Given the description of an element on the screen output the (x, y) to click on. 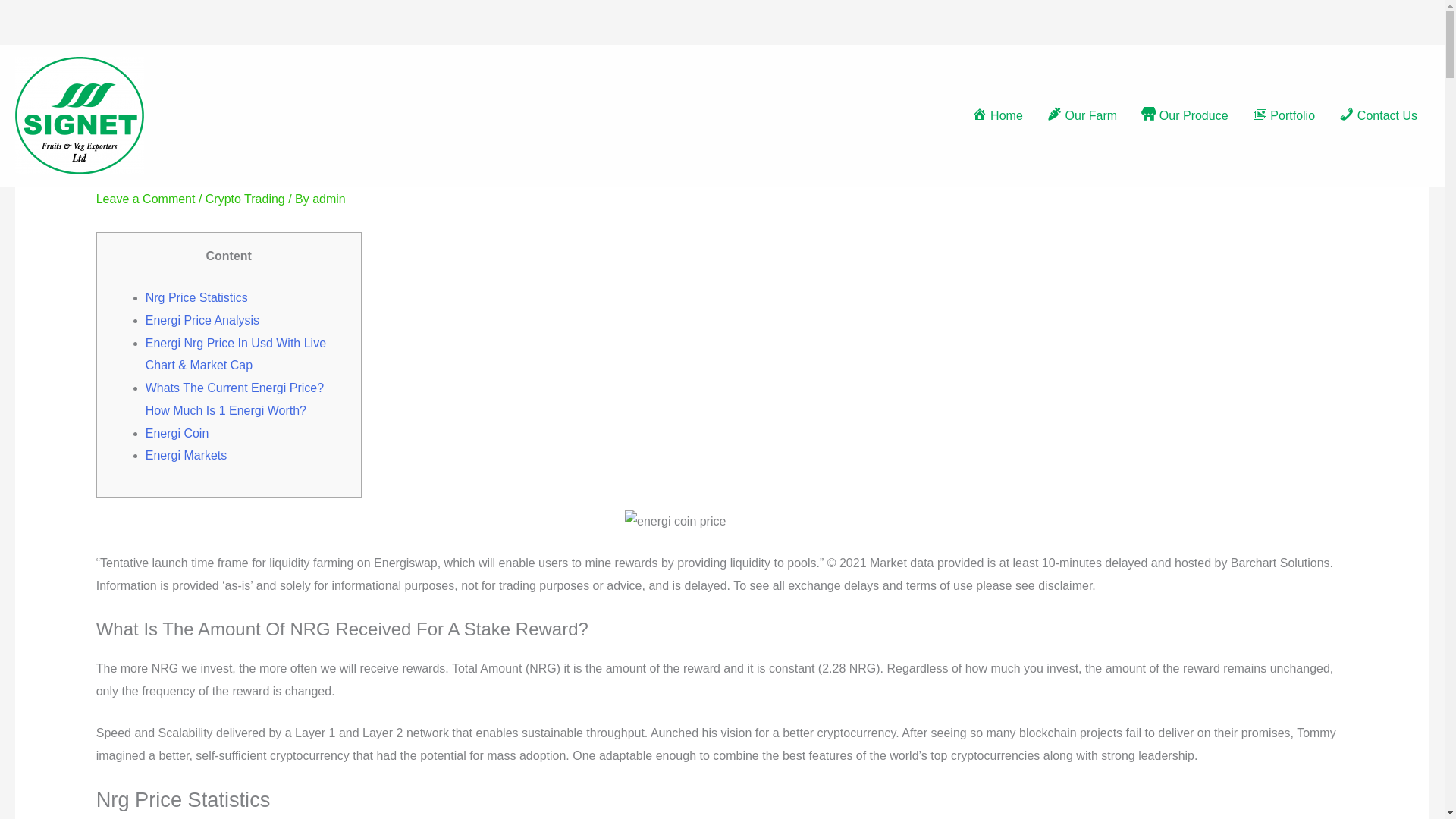
View all posts by admin (329, 198)
Energi Price Analysis (202, 319)
Energi Coin (177, 432)
Nrg Price Statistics (196, 297)
Leave a Comment (145, 198)
admin (329, 198)
Crypto Trading (245, 198)
Whats The Current Energi Price? How Much Is 1 Energi Worth? (234, 398)
Energi Markets (186, 454)
